Given the description of an element on the screen output the (x, y) to click on. 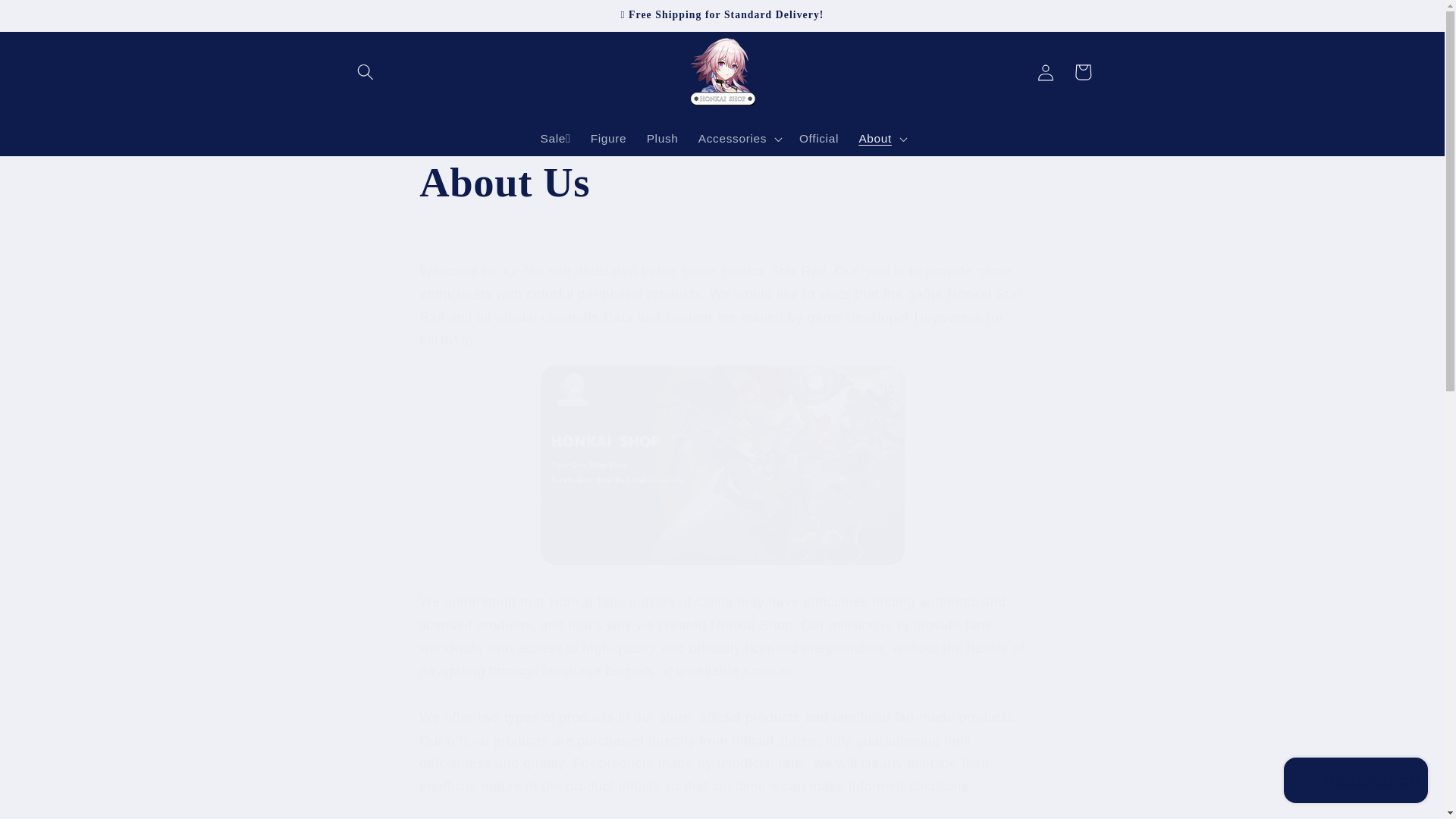
Skip to content (50, 19)
About Us (722, 182)
Plush (661, 138)
Official (818, 138)
Figure (608, 138)
Shopify online store chat (1355, 781)
